Given the description of an element on the screen output the (x, y) to click on. 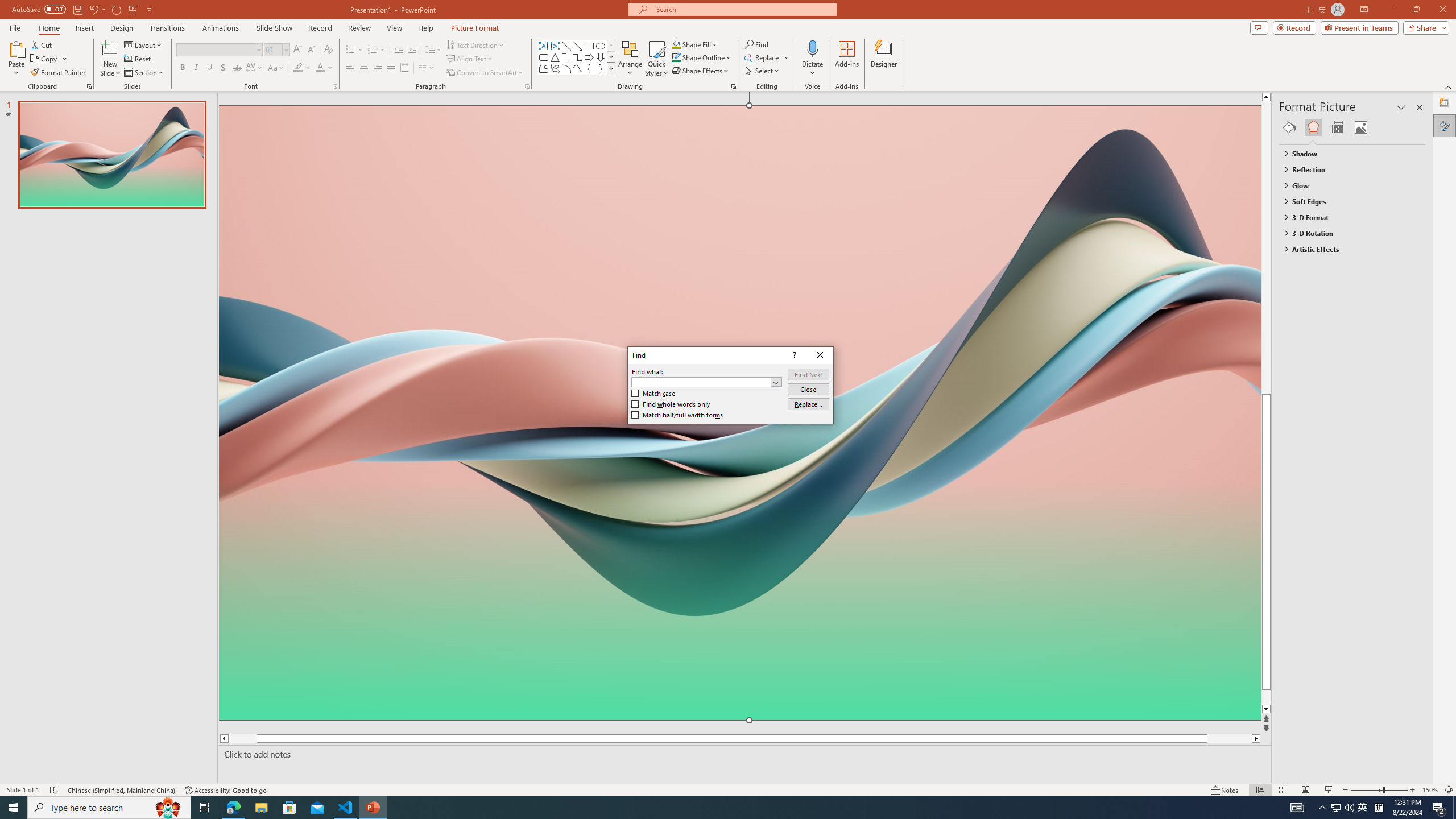
Artistic Effects (1347, 248)
Office Clipboard... (88, 85)
Glow (1347, 185)
Match case (653, 393)
Text Box (543, 45)
PowerPoint - 1 running window (373, 807)
Find whole words only (670, 403)
Page down (1287, 696)
Freeform: Scribble (554, 68)
Isosceles Triangle (554, 57)
